Given the description of an element on the screen output the (x, y) to click on. 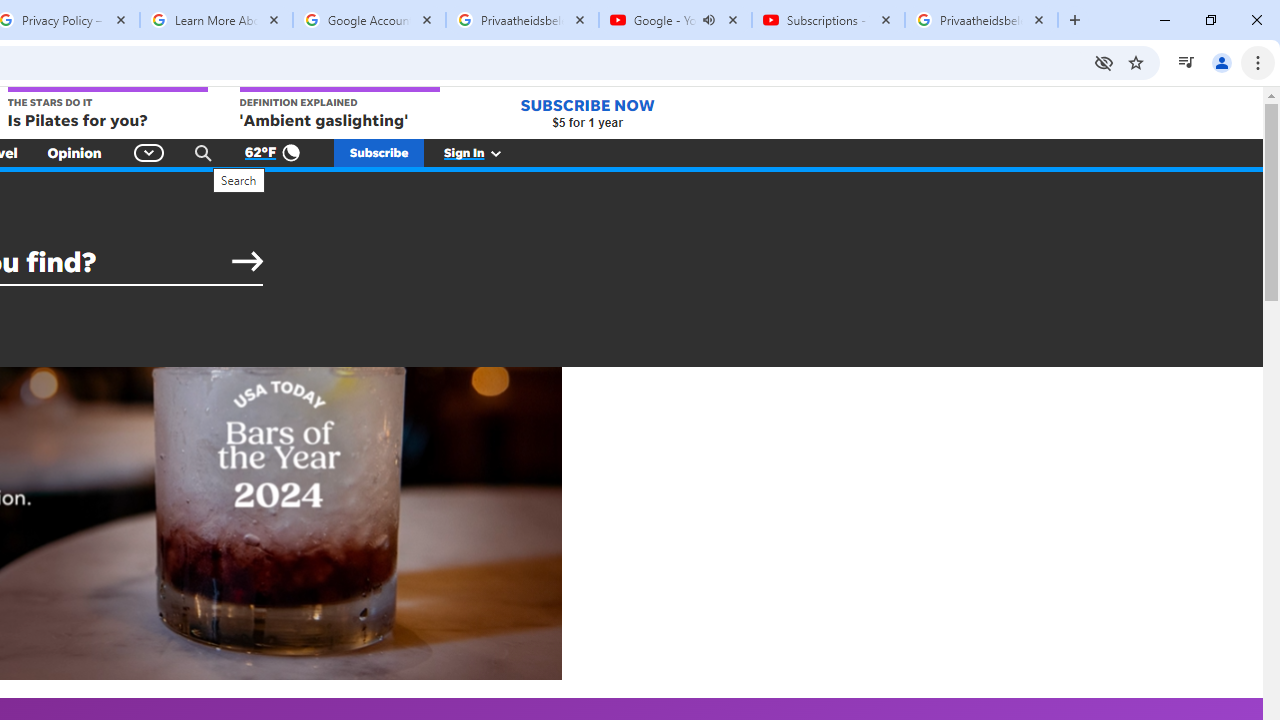
Global Navigation (149, 152)
Google - YouTube - Audio playing (675, 20)
DEFINITION EXPLAINED 'Ambient gaslighting' (339, 109)
Subscribe (379, 152)
Google Account (369, 20)
THE STARS DO IT Is Pilates for you? (106, 109)
